Given the description of an element on the screen output the (x, y) to click on. 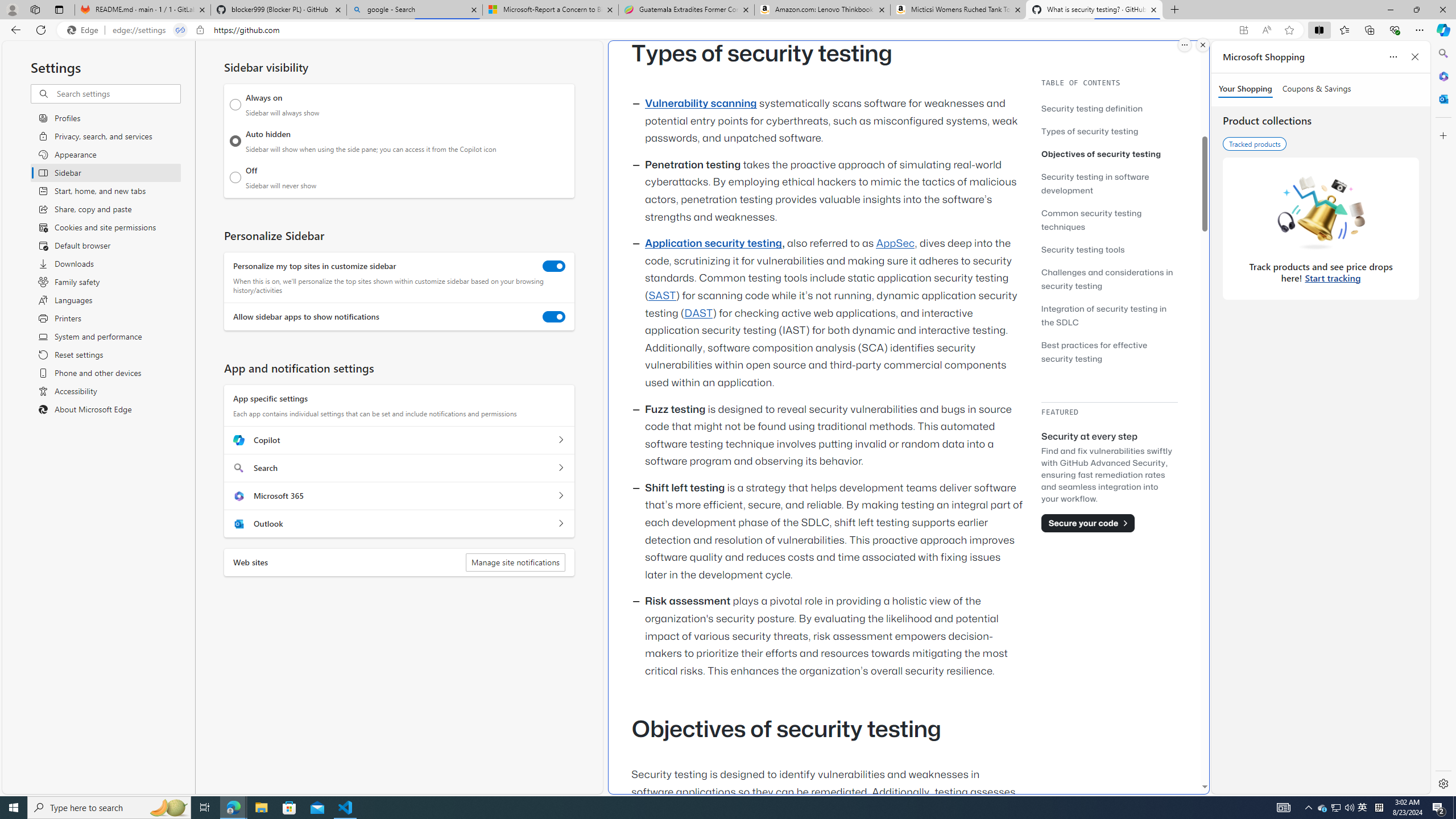
Vulnerability scanning (701, 103)
Side bar (1443, 418)
Security testing in software development (1109, 183)
Common security testing techniques (1109, 219)
Security testing in software development (1094, 182)
Best practices for effective security testing (1094, 351)
Off Sidebar will never show (235, 177)
Outlook (1442, 98)
